Given the description of an element on the screen output the (x, y) to click on. 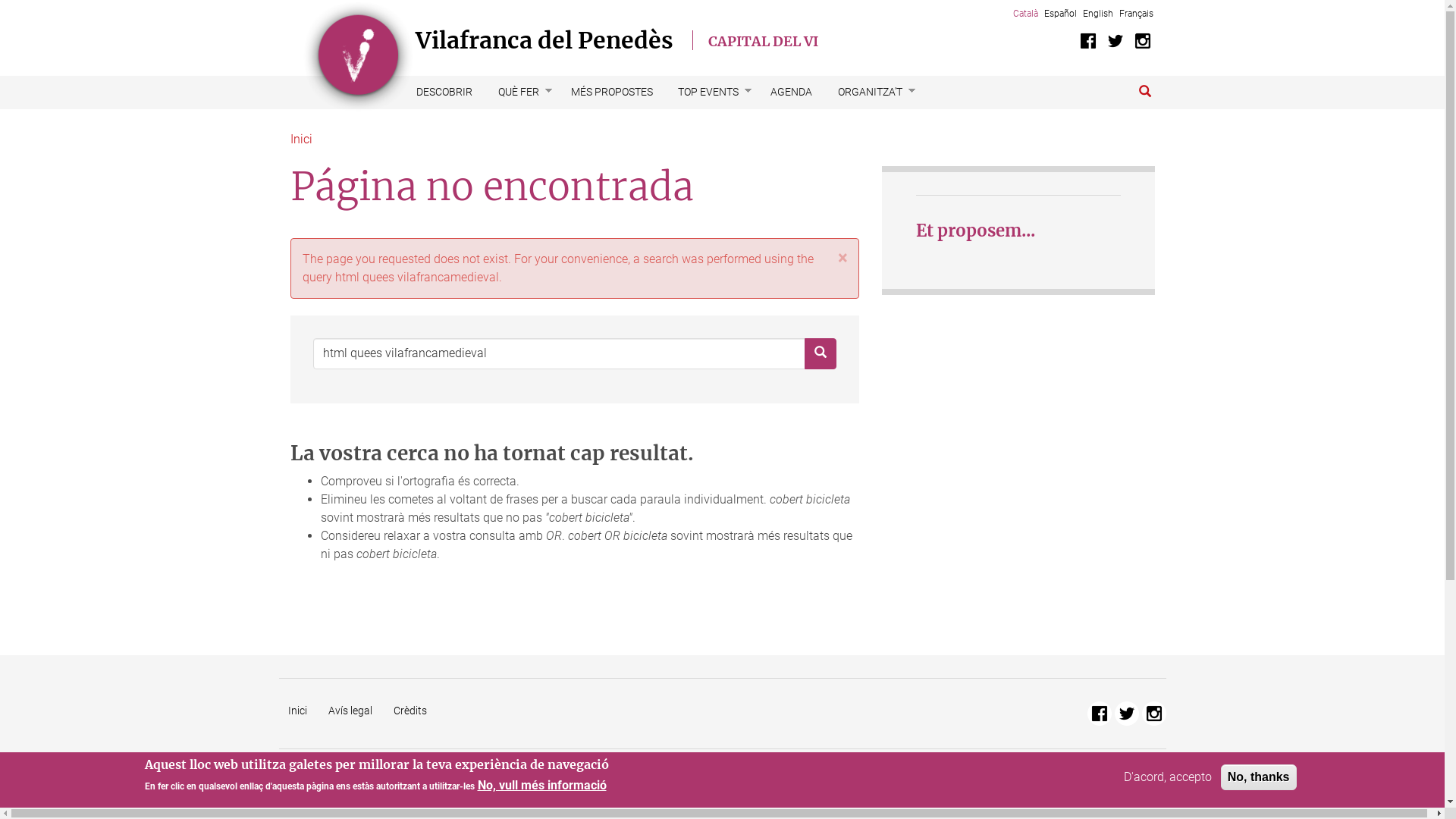
D'acord, accepto Element type: text (1167, 777)
No, thanks Element type: text (1258, 777)
Visita la nostra galeria d'Instagram Element type: hover (1141, 40)
Inici Element type: text (297, 710)
Inici Element type: text (300, 138)
Segueix-nos a Facebook Element type: hover (1099, 713)
English Element type: text (1097, 13)
DESCOBRIR Element type: text (444, 92)
Segueix-nos a Facebook Element type: hover (1087, 40)
Cercar Element type: hover (1145, 91)
Inici Element type: hover (357, 56)
Segueix-nos a Twitter Element type: hover (1114, 40)
Segueix-nos a Twitter Element type: hover (1126, 713)
Cerca Element type: text (312, 369)
AGENDA Element type: text (791, 92)
Visita la nostra galeria d'Instagram Element type: hover (1154, 713)
